Given the description of an element on the screen output the (x, y) to click on. 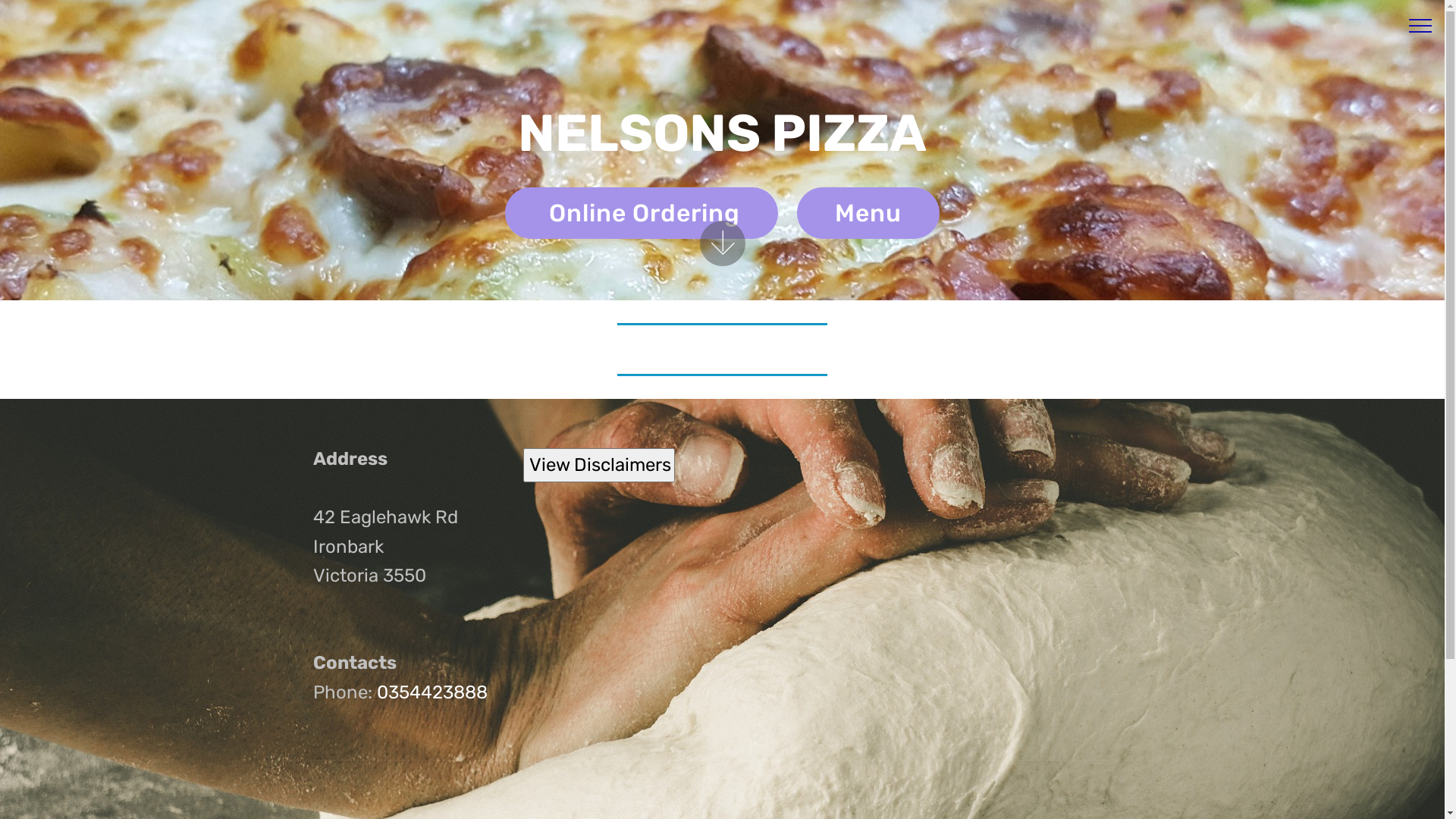
 Online Ordering Element type: text (641, 212)
Menu Element type: text (868, 212)
View Disclaimers Element type: text (598, 464)
0354423888 Element type: text (431, 691)
